Given the description of an element on the screen output the (x, y) to click on. 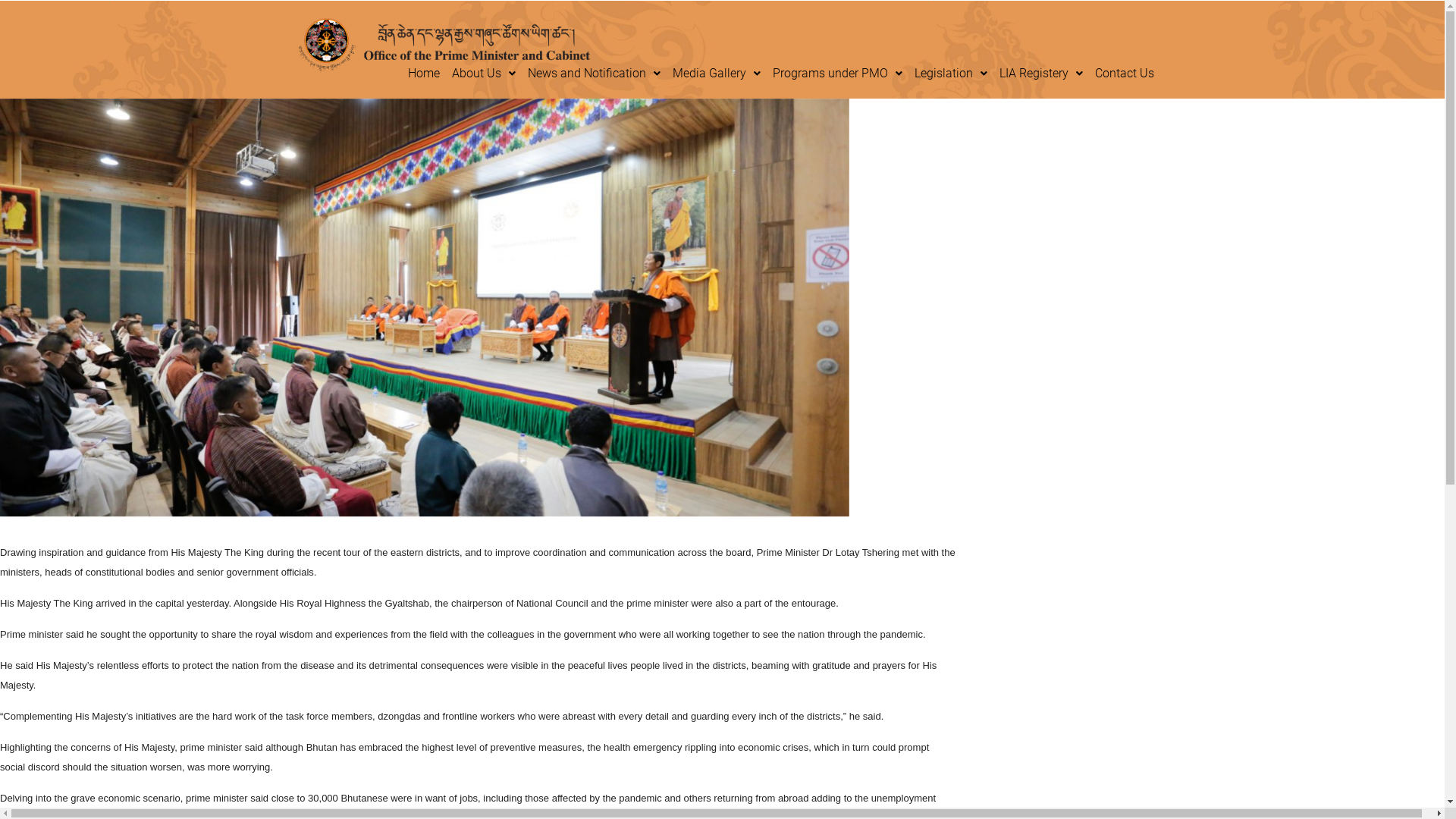
Legislation Element type: text (950, 73)
Contact Us Element type: text (1124, 73)
LIA Registery Element type: text (1040, 73)
News and Notification Element type: text (594, 73)
Media Gallery Element type: text (715, 73)
Home Element type: text (423, 73)
About Us Element type: text (483, 73)
Programs under PMO Element type: text (836, 73)
